Given the description of an element on the screen output the (x, y) to click on. 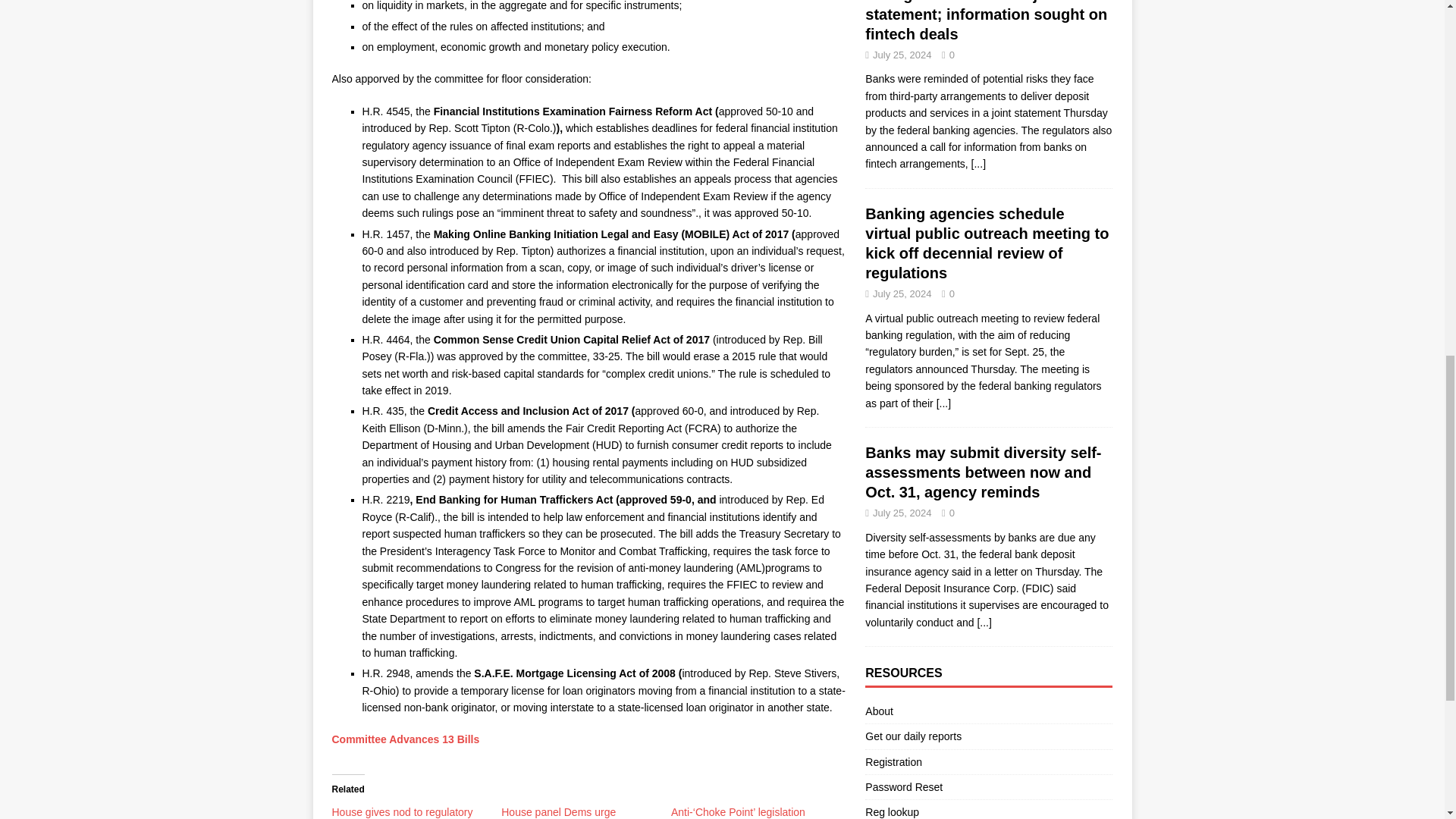
Committee Advances 13 Bills (405, 739)
